Given the description of an element on the screen output the (x, y) to click on. 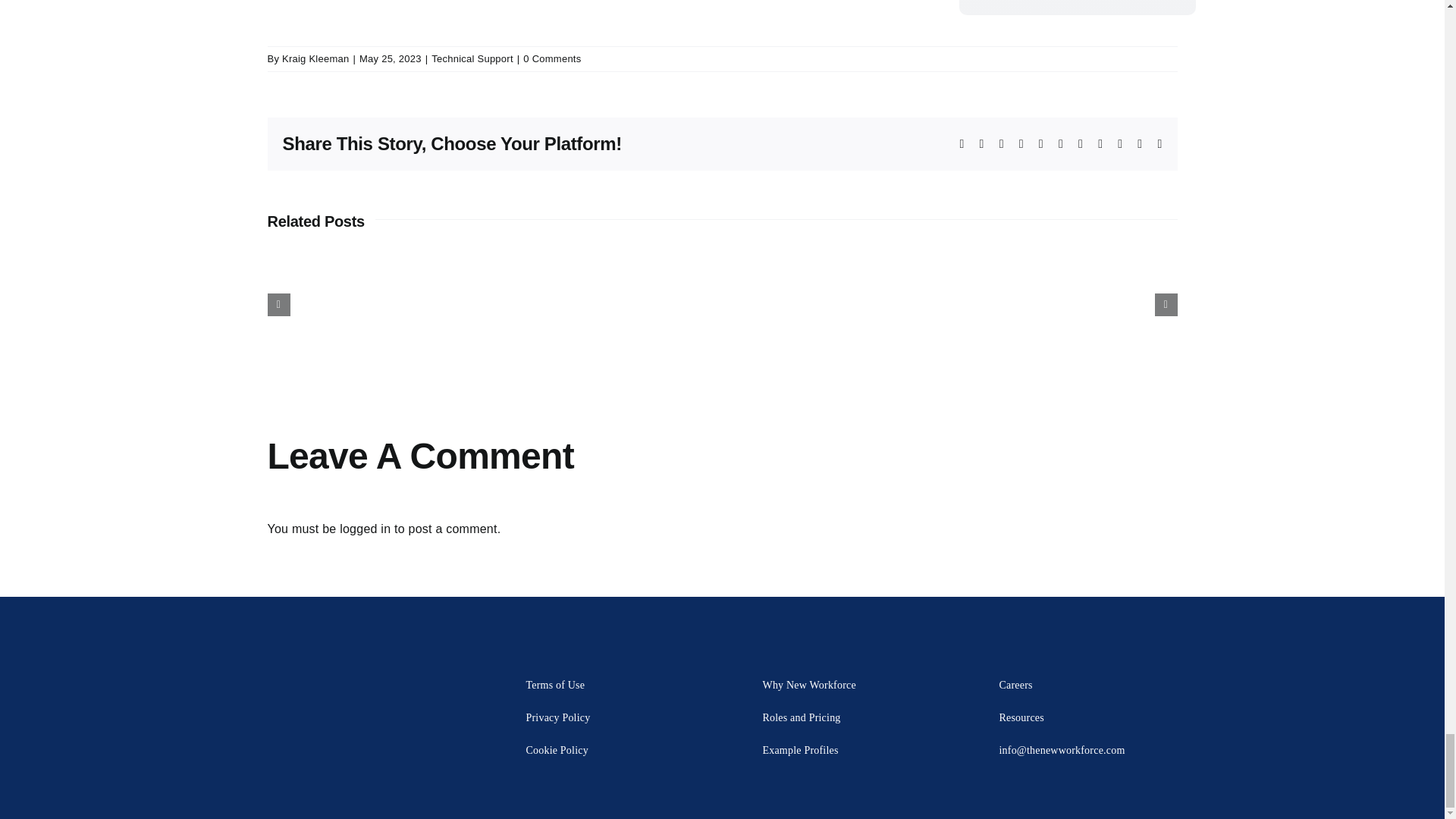
Kraig Kleeman (315, 58)
Posts by Kraig Kleeman (315, 58)
0 Comments (551, 58)
Technical Support (471, 58)
